Given the description of an element on the screen output the (x, y) to click on. 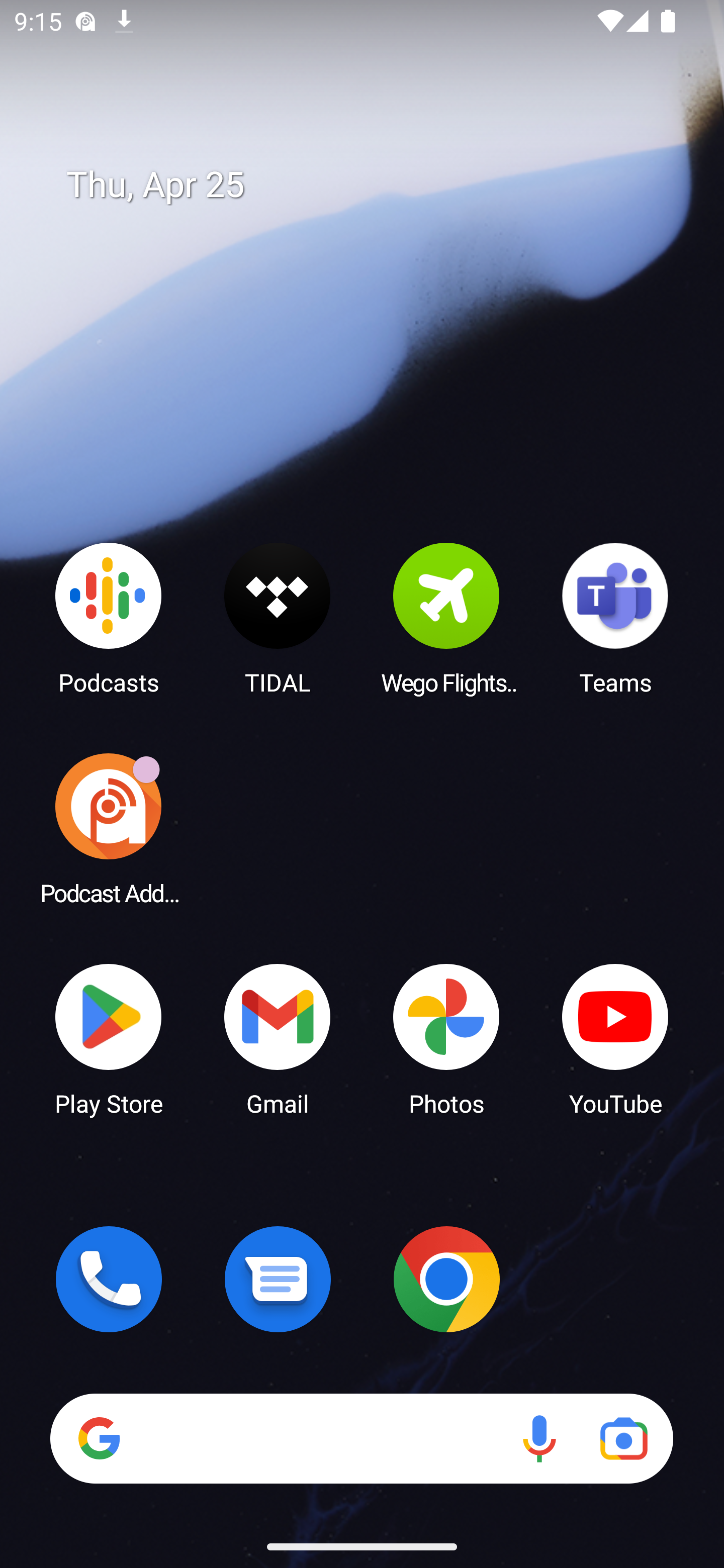
Thu, Apr 25 (375, 184)
Podcasts (108, 617)
TIDAL (277, 617)
Wego Flights & Hotels (445, 617)
Teams (615, 617)
Play Store (108, 1038)
Gmail (277, 1038)
Photos (445, 1038)
YouTube (615, 1038)
Phone (108, 1279)
Messages (277, 1279)
Chrome (446, 1279)
Search Voice search Google Lens (361, 1438)
Voice search (539, 1438)
Google Lens (623, 1438)
